Given the description of an element on the screen output the (x, y) to click on. 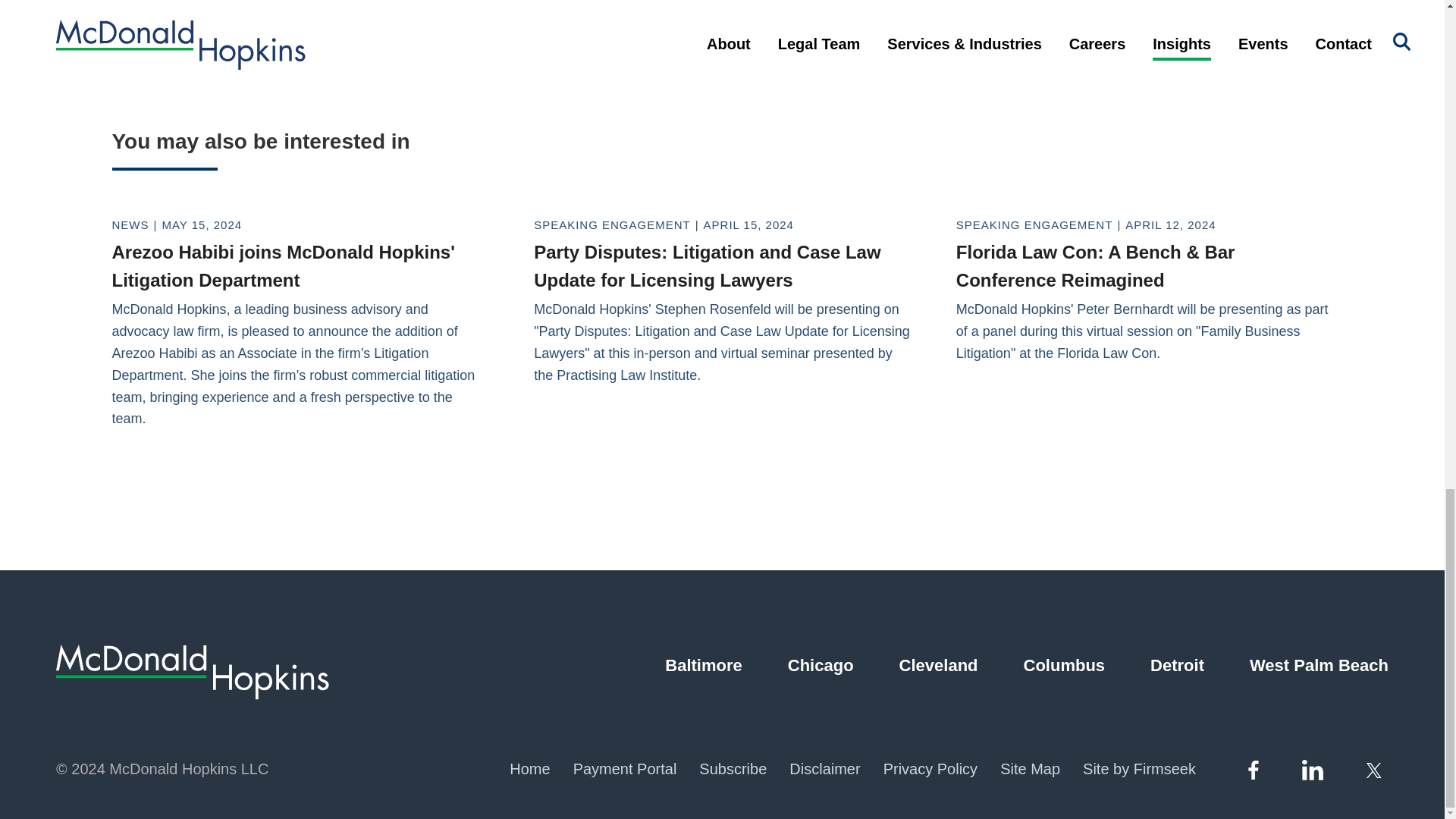
Linkedin (1312, 769)
Twitter (1375, 770)
Facebook (1253, 769)
